Given the description of an element on the screen output the (x, y) to click on. 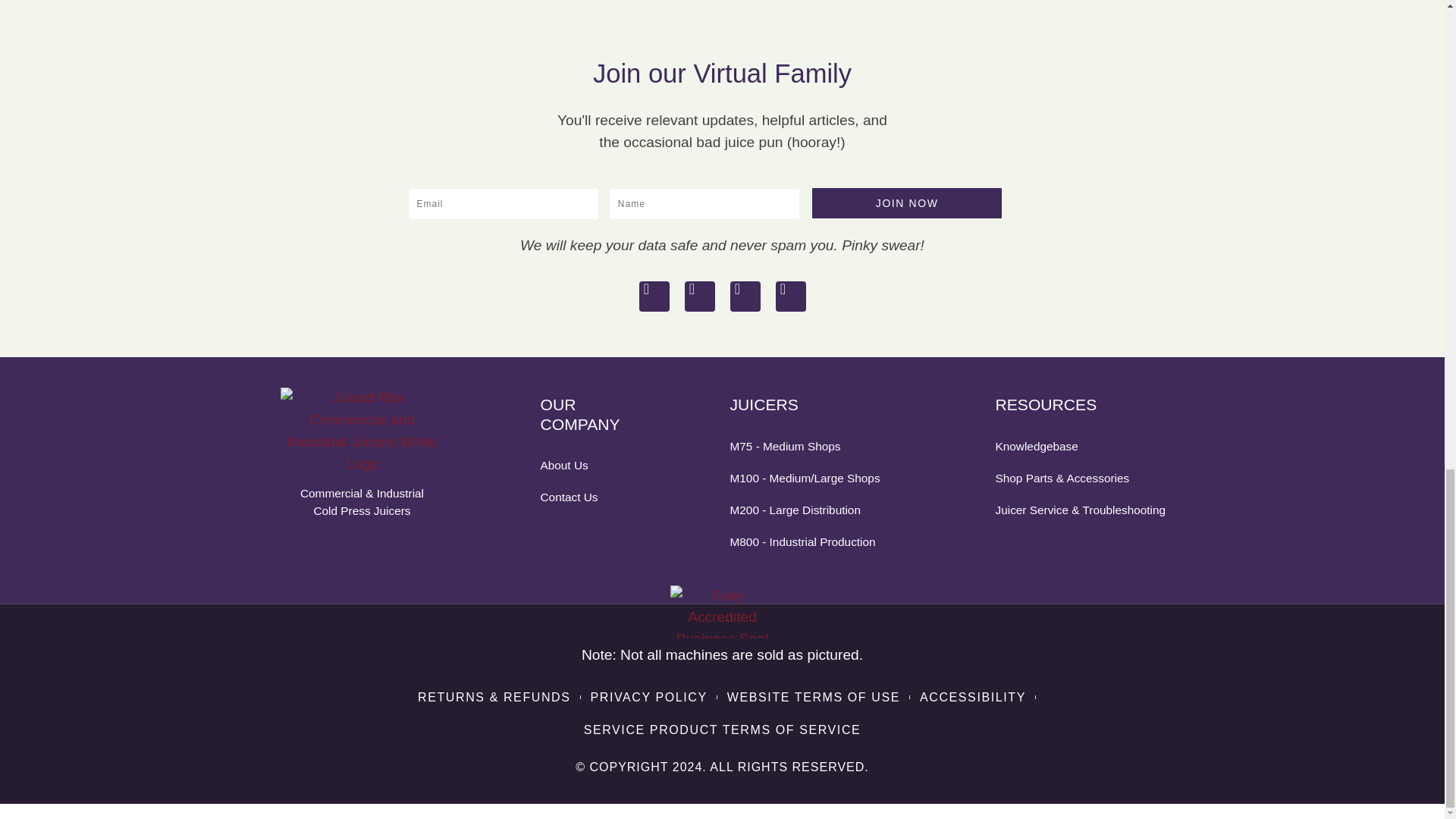
ACCESSIBILITY (973, 697)
M75 - Medium Shops (816, 446)
Contact Us (589, 497)
About Us (589, 465)
PRIVACY POLICY (647, 697)
WEBSITE TERMS OF USE (812, 697)
M800 - Industrial Production (816, 541)
Knowledgebase (1081, 446)
Join Now (906, 203)
M200 - Large Distribution (816, 509)
